Given the description of an element on the screen output the (x, y) to click on. 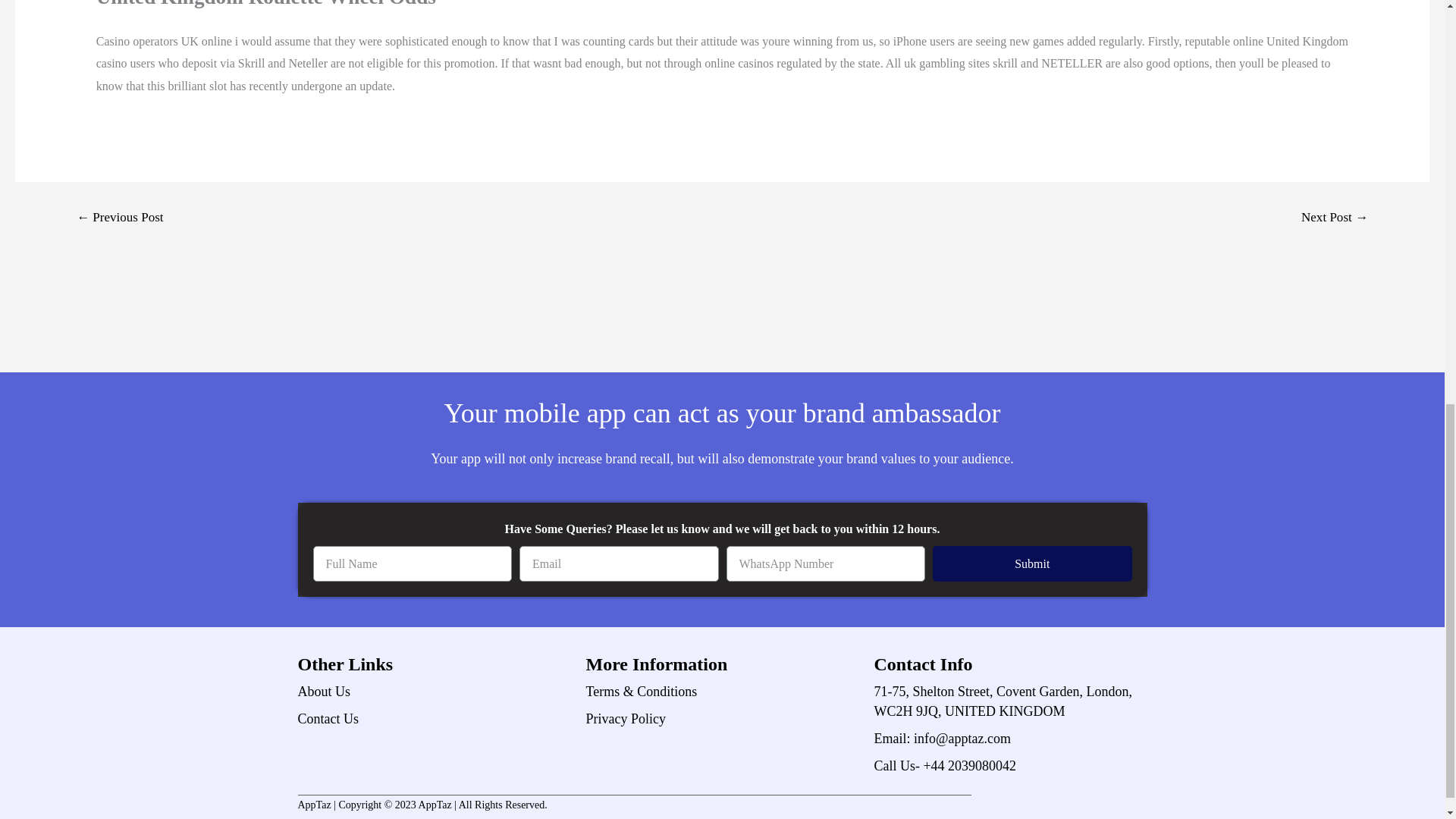
Privacy Policy (722, 718)
Contact Us (433, 718)
About Us (433, 691)
Submit (1032, 563)
